Given the description of an element on the screen output the (x, y) to click on. 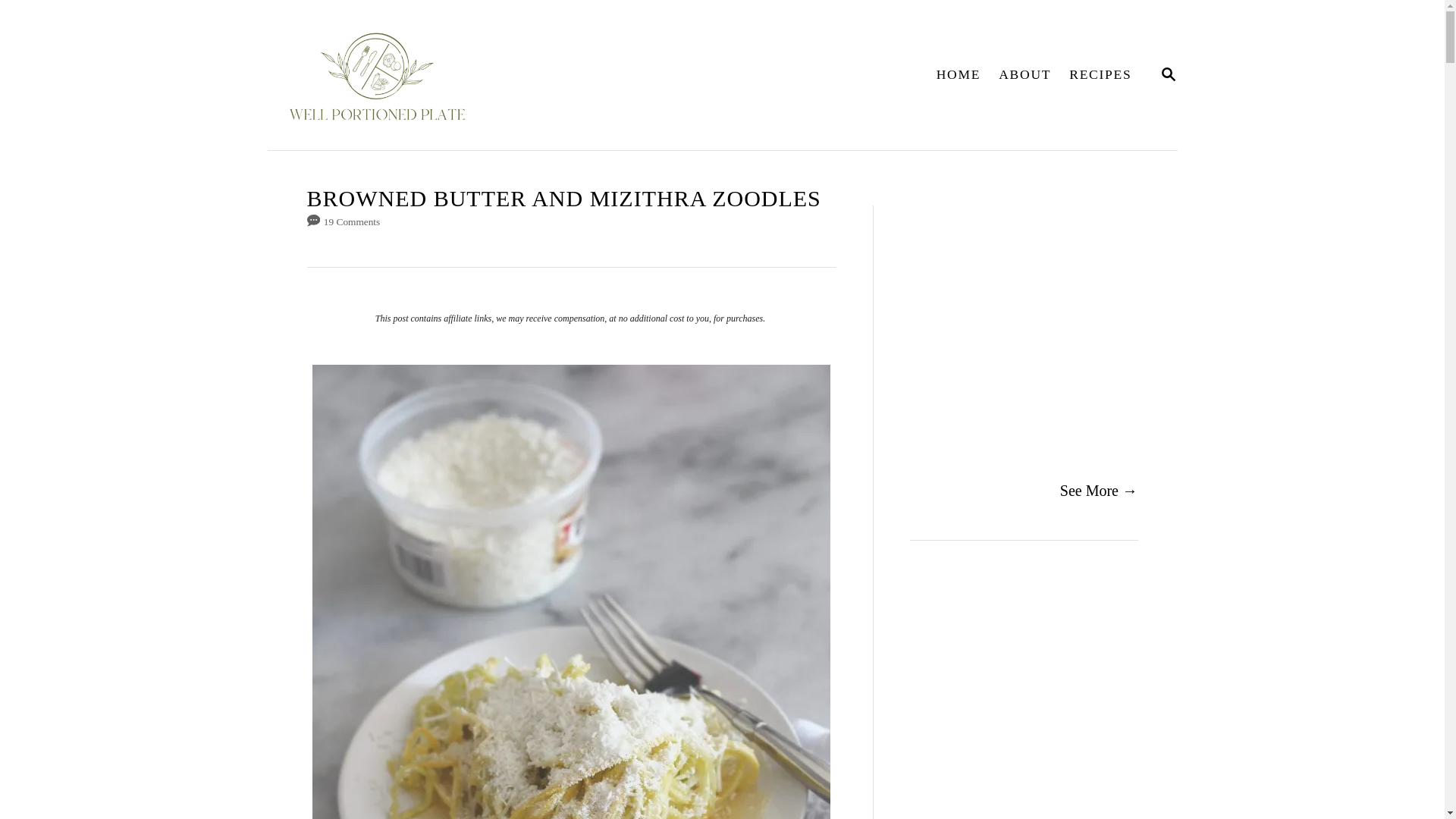
Well Portioned Plate (1167, 75)
ABOUT (488, 74)
MAGNIFYING GLASS (1024, 74)
HOME (1167, 74)
RECIPES (958, 74)
